Given the description of an element on the screen output the (x, y) to click on. 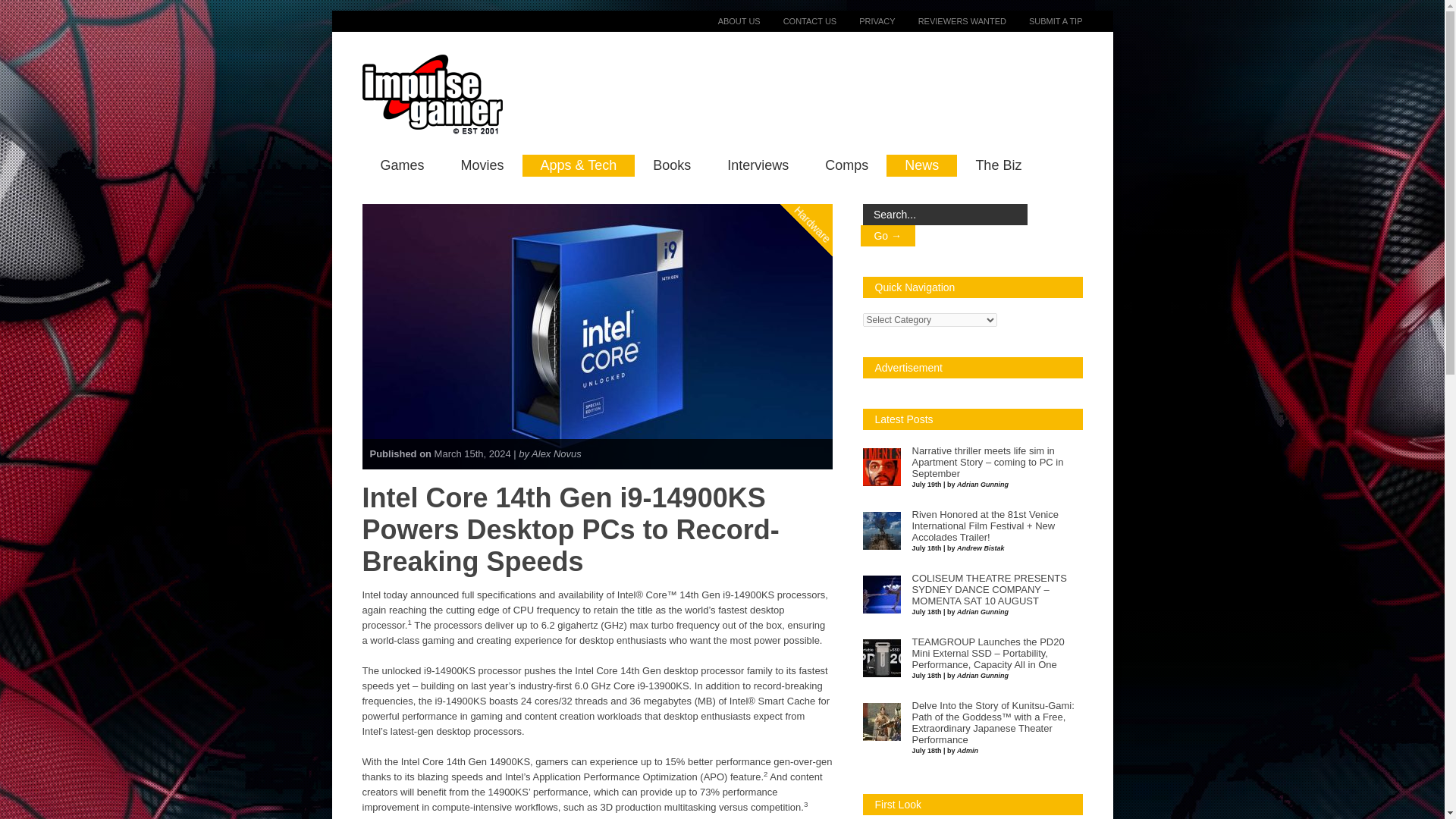
REVIEWERS WANTED (950, 20)
ABOUT US (727, 20)
Search... (945, 214)
Search... (945, 214)
SUBMIT A TIP (1044, 20)
CONTACT US (798, 20)
Movies (482, 165)
Games (402, 165)
PRIVACY (865, 20)
